Given the description of an element on the screen output the (x, y) to click on. 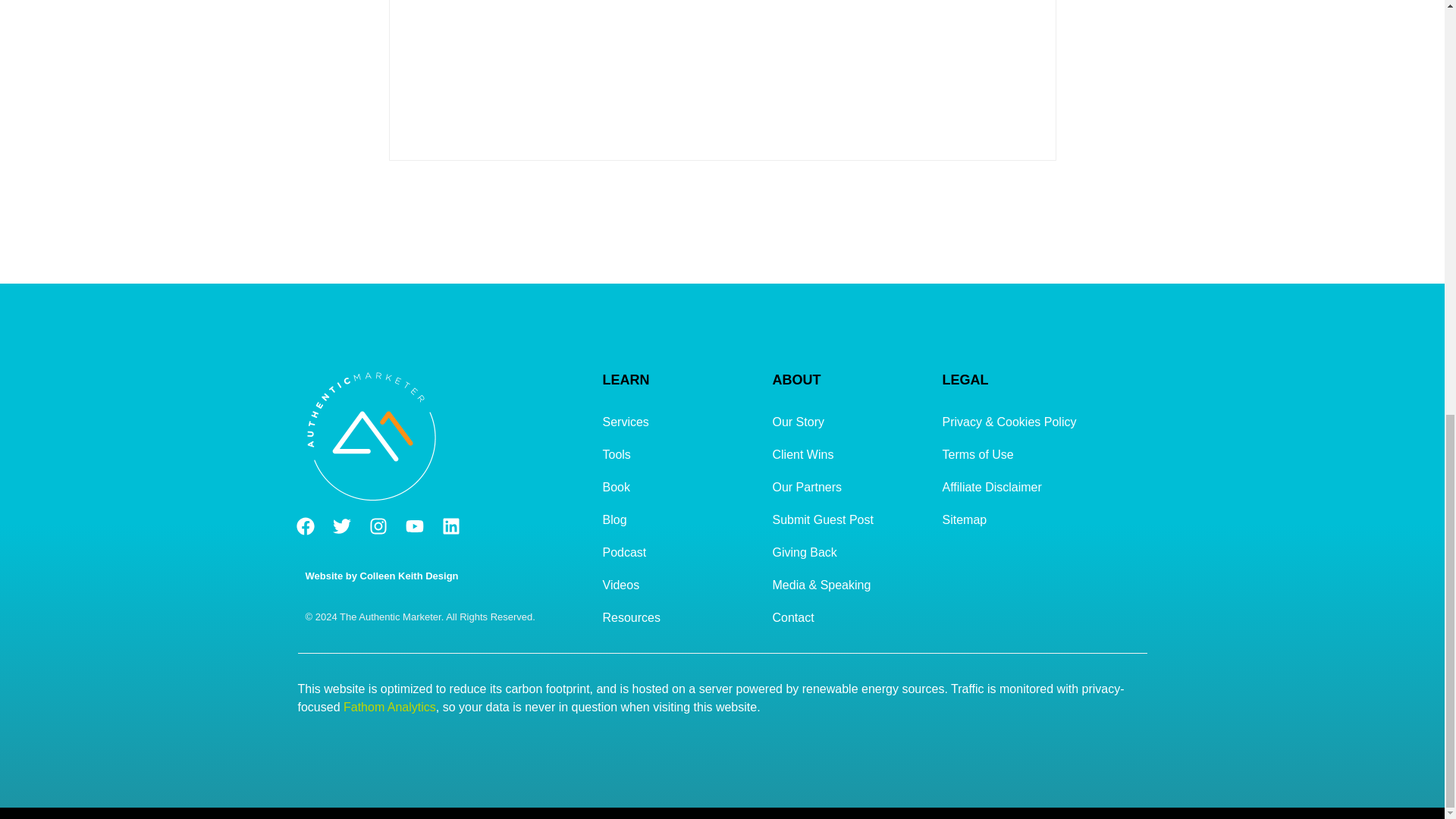
Our Partners (848, 486)
Podcast (679, 552)
Client Wins (848, 454)
Book (679, 486)
Resources (679, 617)
Our Story (848, 421)
Website by Colleen Keith Design (381, 575)
Tools (679, 454)
Services (679, 421)
Blog (679, 519)
Videos (679, 584)
